Given the description of an element on the screen output the (x, y) to click on. 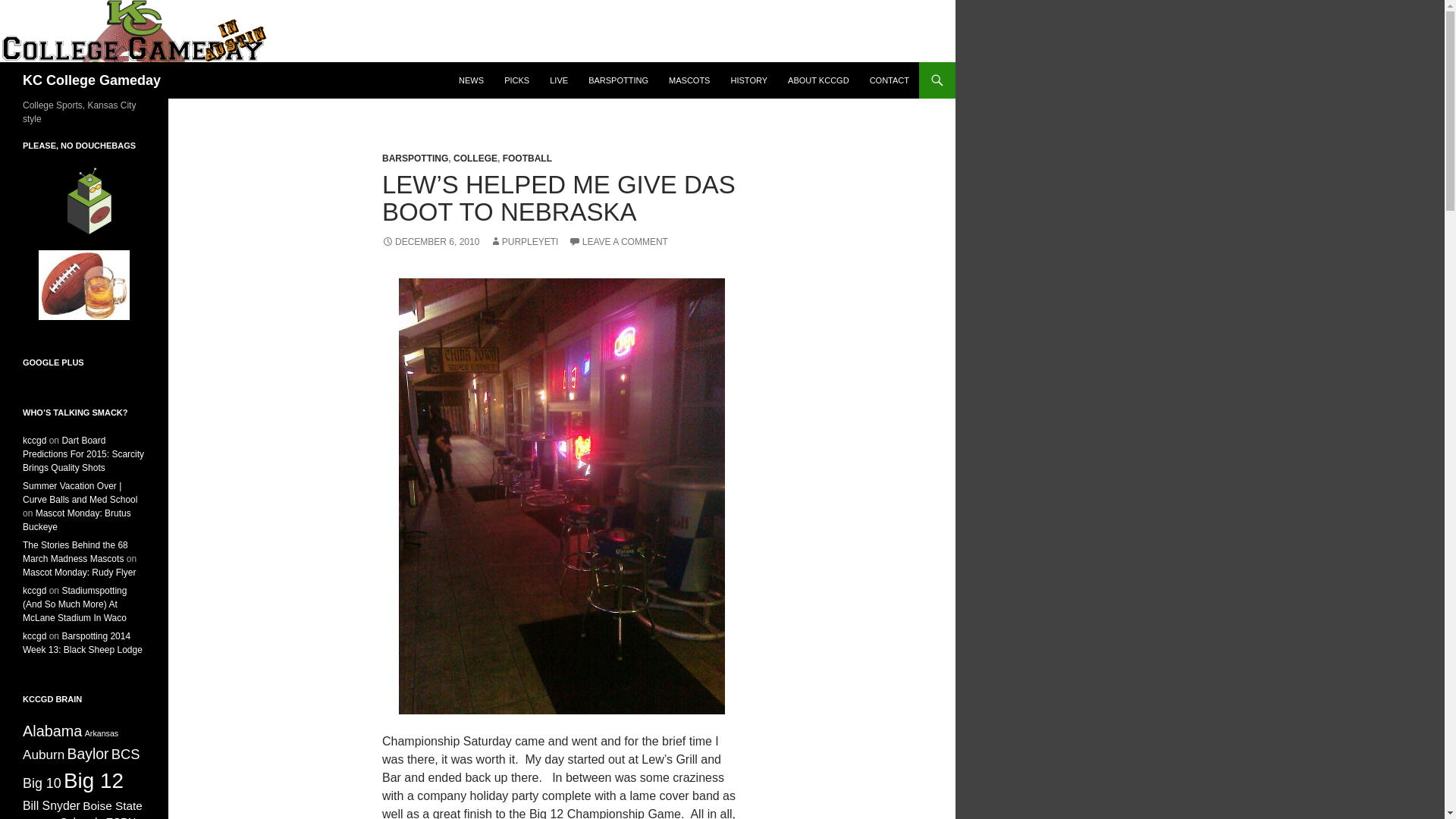
ABOUT KCCGD (817, 80)
COLLEGE (474, 158)
PURPLEYETI (524, 241)
HISTORY (749, 80)
LEAVE A COMMENT (618, 241)
NEWS (471, 80)
FOOTBALL (526, 158)
PICKS (516, 80)
LIVE (558, 80)
